Given the description of an element on the screen output the (x, y) to click on. 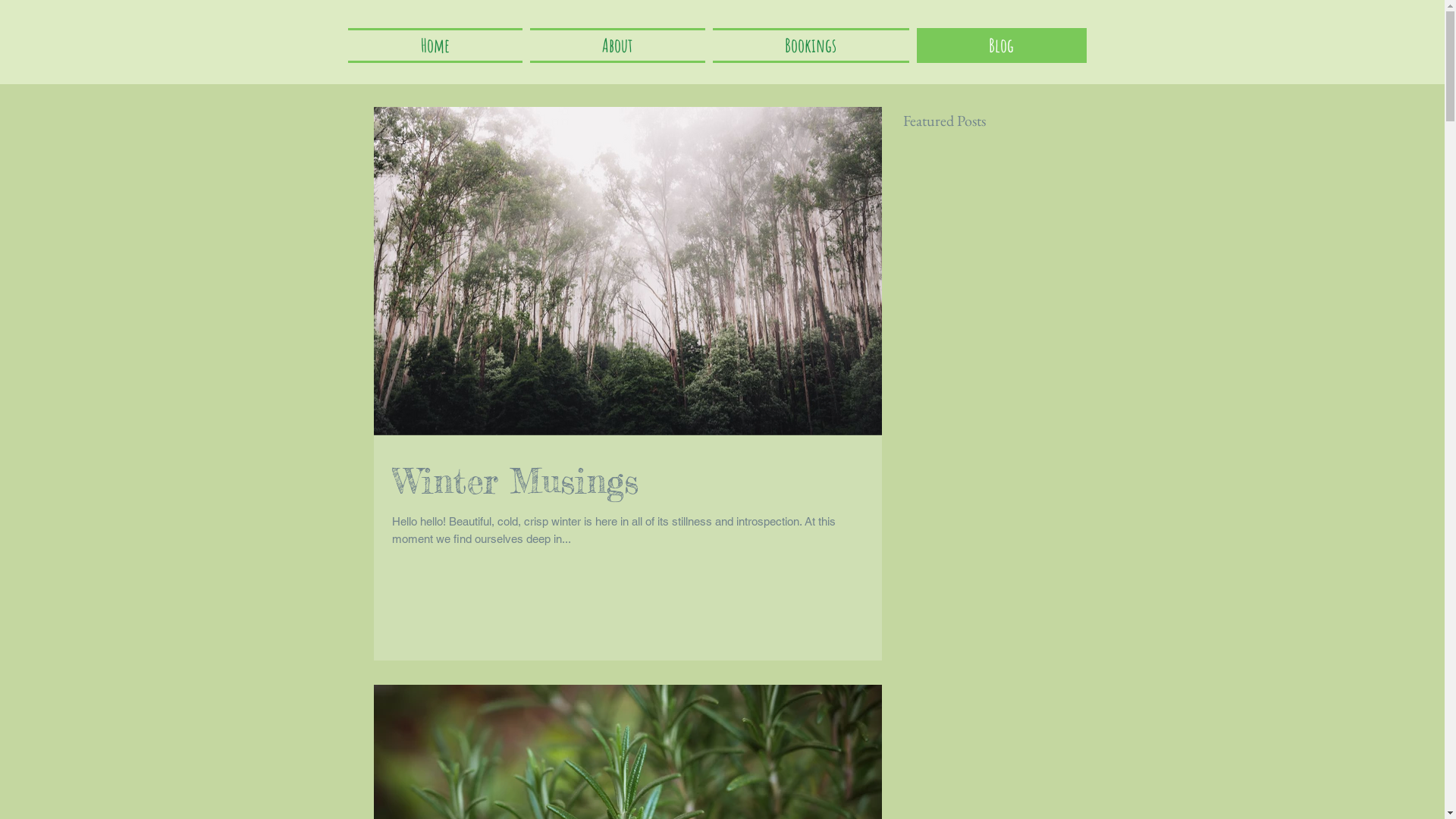
Home Element type: text (436, 45)
About Element type: text (617, 45)
Bookings Element type: text (810, 45)
Blog Element type: text (999, 45)
Winter Musings Element type: text (626, 481)
